Given the description of an element on the screen output the (x, y) to click on. 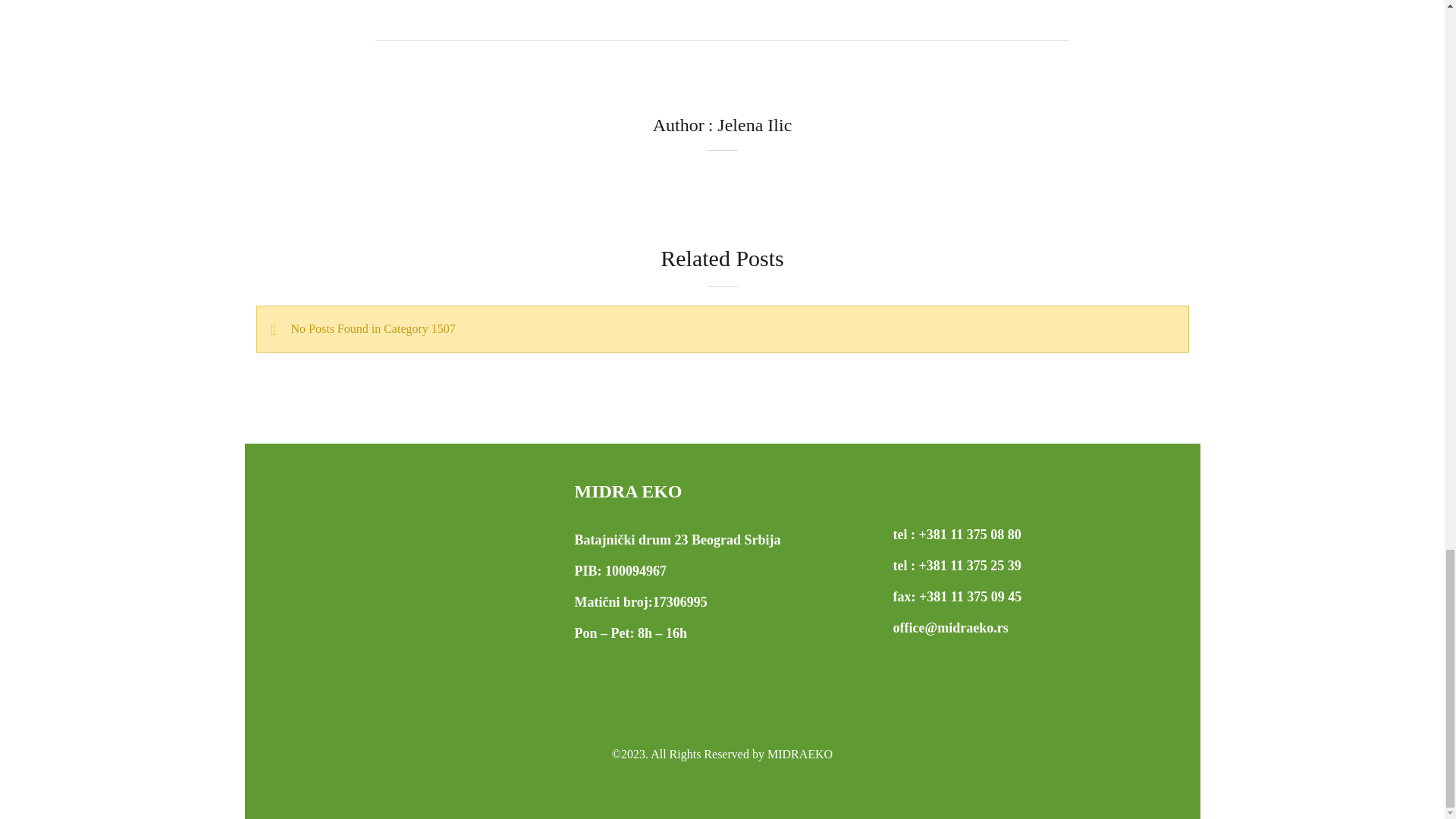
MIDRAEKO (799, 753)
Webdizajn Izrada sajta (721, 784)
Jelena Ilic (754, 125)
Izrada sajta (721, 784)
